Given the description of an element on the screen output the (x, y) to click on. 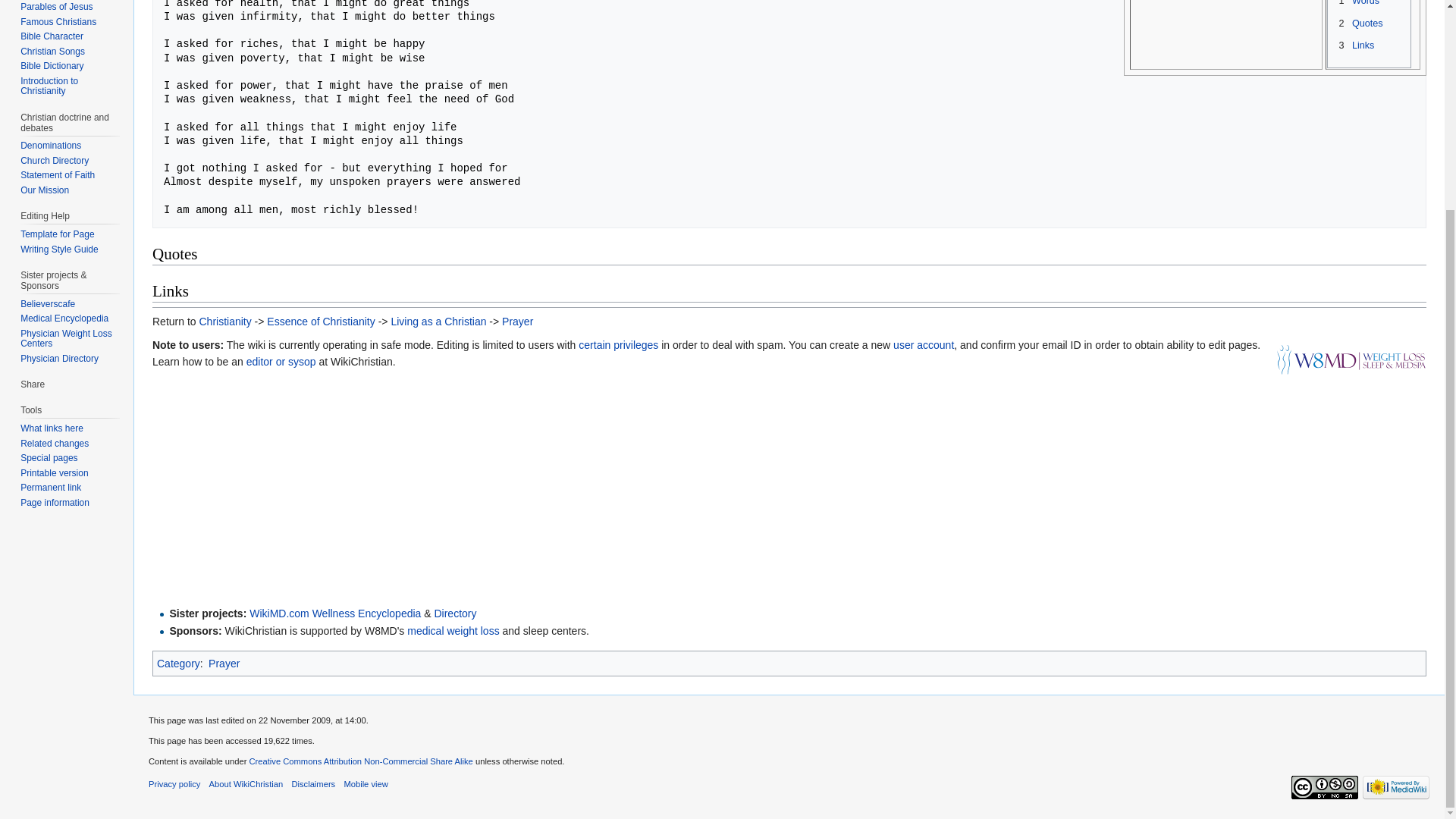
user account (923, 344)
Prayer (517, 321)
Living as a Christian (438, 321)
Related changes (54, 443)
editor or sysop (280, 361)
medical weight loss (453, 630)
Christian Songs (52, 50)
Living as a Christian (438, 321)
Church Directory (54, 160)
Physician Weight Loss Centers (66, 338)
Permanent link (50, 487)
Writing Style Guide (59, 249)
Our Mission (44, 190)
Printable version (53, 472)
Essence of Christianity (320, 321)
